Given the description of an element on the screen output the (x, y) to click on. 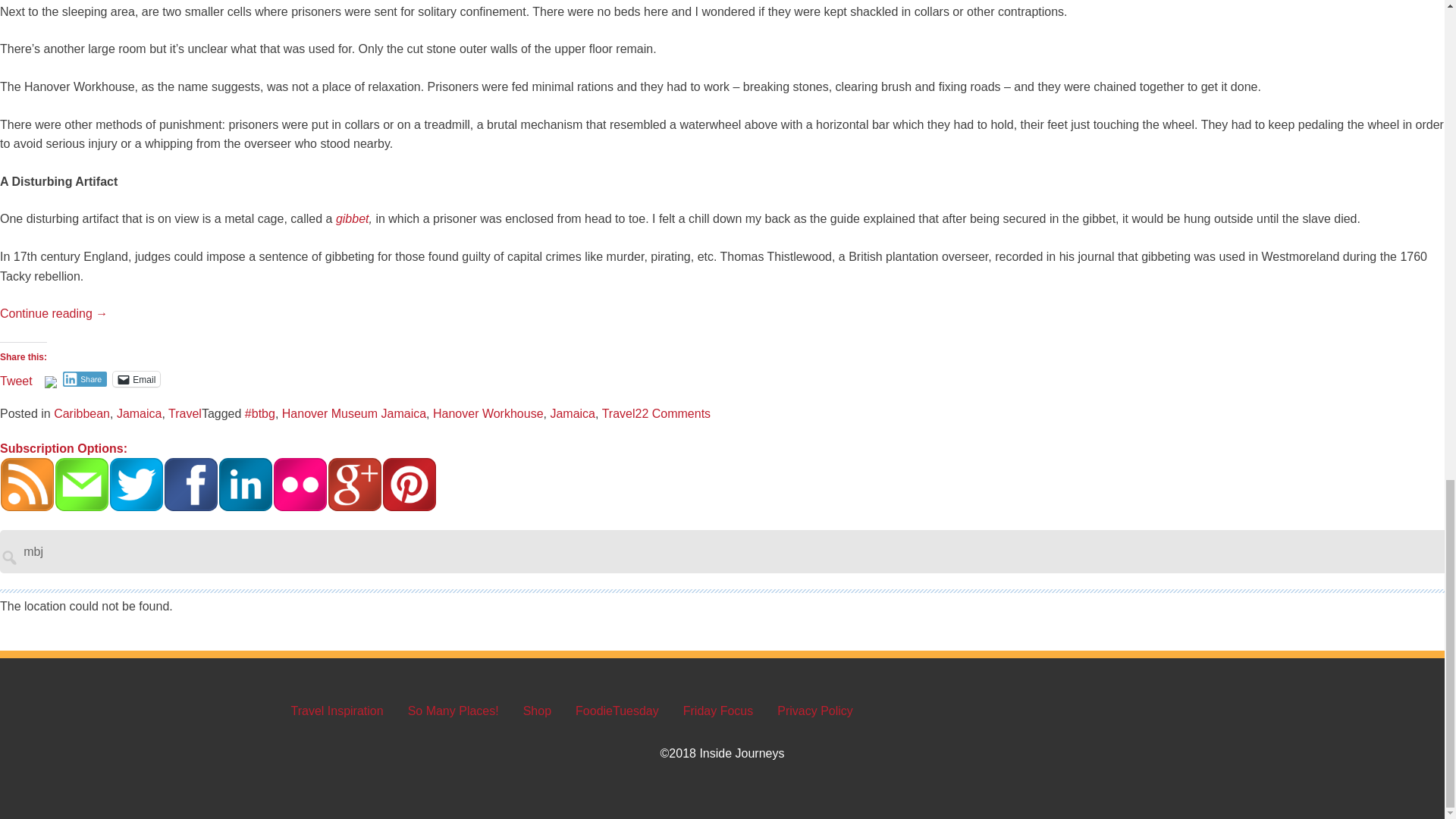
Subscribe via Pinterest (408, 483)
Click to email a link to a friend (136, 378)
Subscribe via RSS (27, 483)
Subscribe via LinkedIn (245, 483)
Subscribe via Twitter (136, 483)
Subscribe via Facebook (190, 483)
Subscribe via Email (82, 483)
Subscribe via Flickr (300, 483)
